Given the description of an element on the screen output the (x, y) to click on. 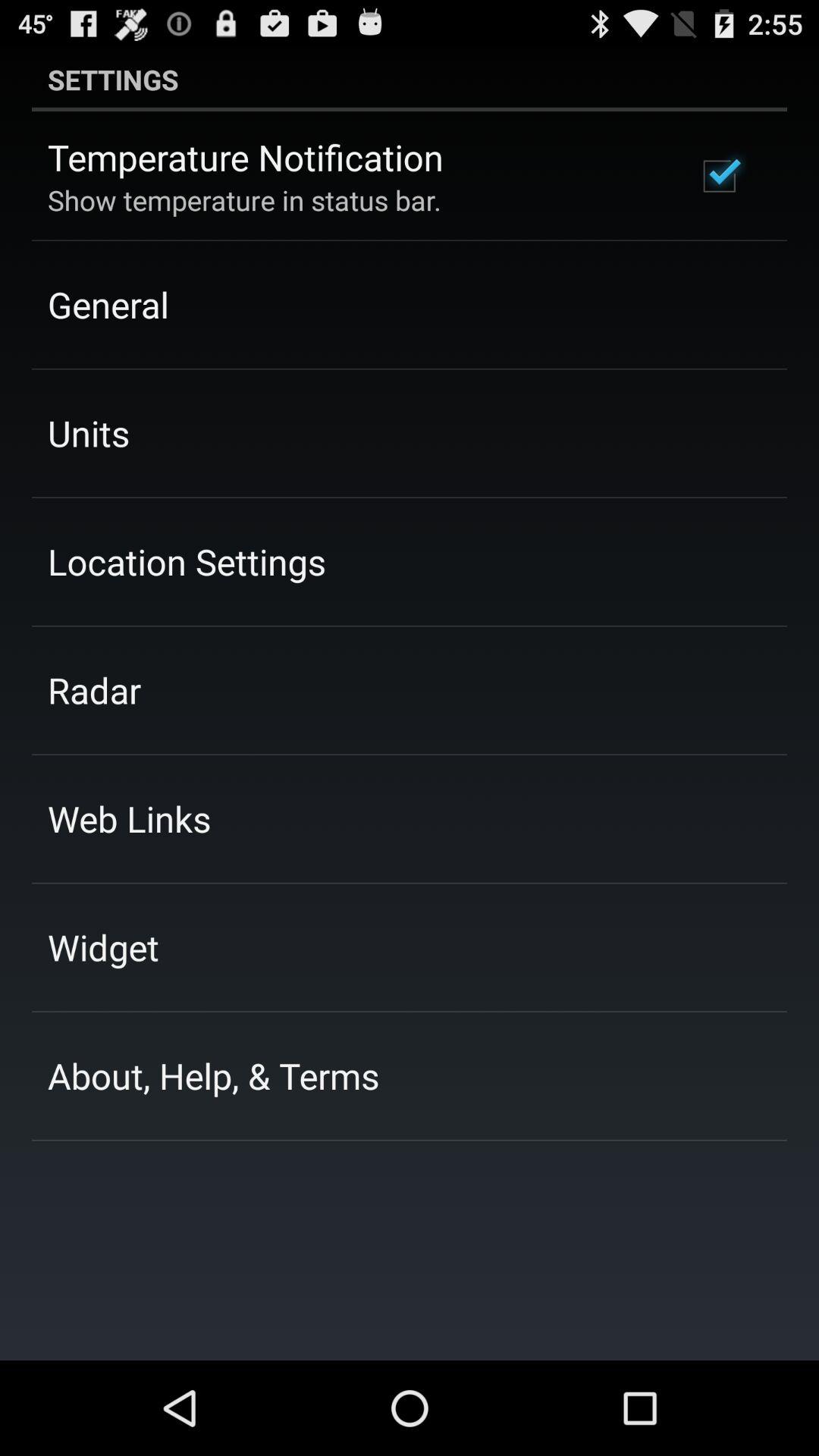
click the radar (94, 690)
